Given the description of an element on the screen output the (x, y) to click on. 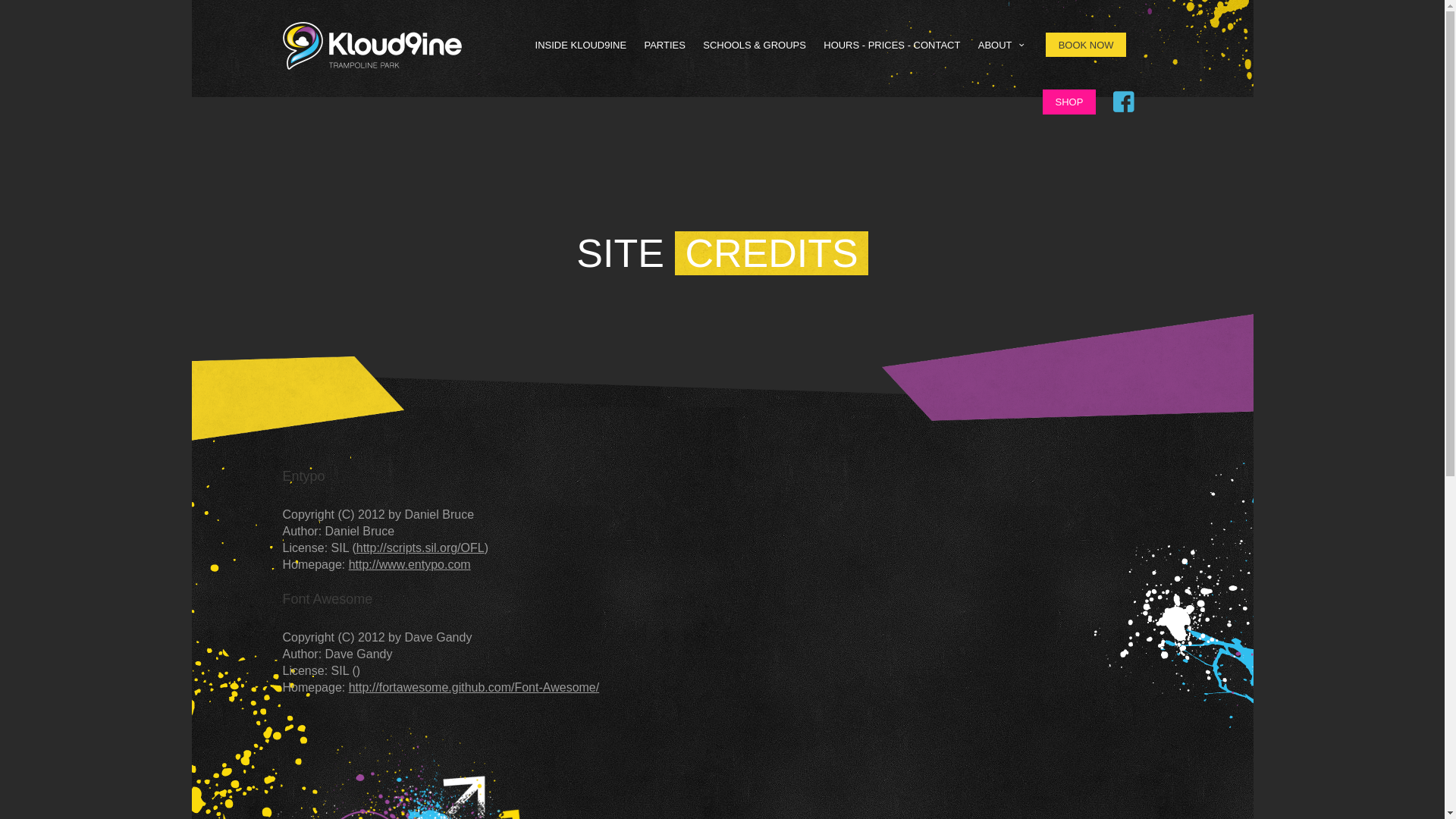
BOOK NOW Element type: text (1085, 44)
http://www.entypo.com Element type: text (409, 564)
PARTIES Element type: text (663, 44)
SCHOOLS & GROUPS Element type: text (754, 44)
http://fortawesome.github.com/Font-Awesome/ Element type: text (473, 686)
INSIDE KLOUD9INE Element type: text (581, 44)
ABOUT Element type: text (1003, 44)
SHOP Element type: text (1068, 101)
HOURS - PRICES - CONTACT Element type: text (891, 44)
http://scripts.sil.org/OFL Element type: text (420, 547)
